Given the description of an element on the screen output the (x, y) to click on. 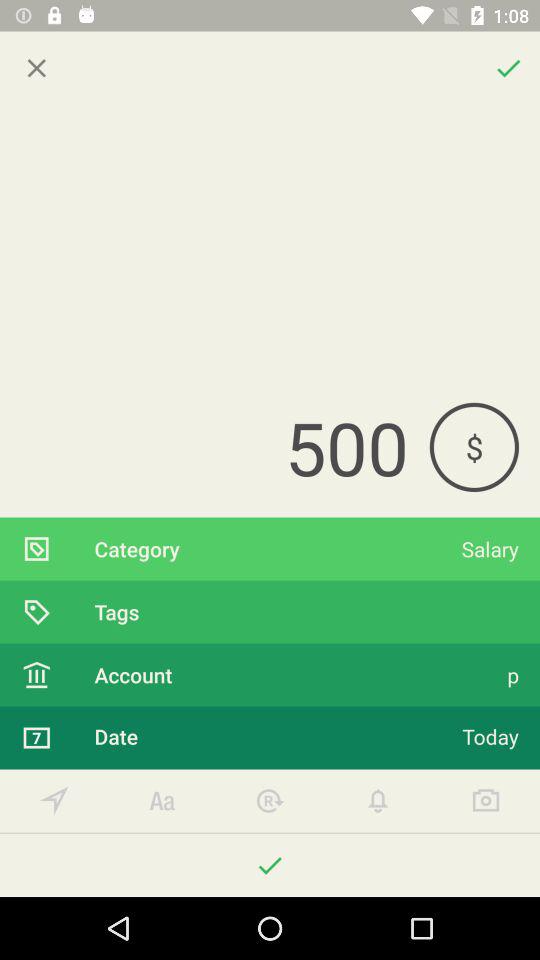
select your option (54, 800)
